Given the description of an element on the screen output the (x, y) to click on. 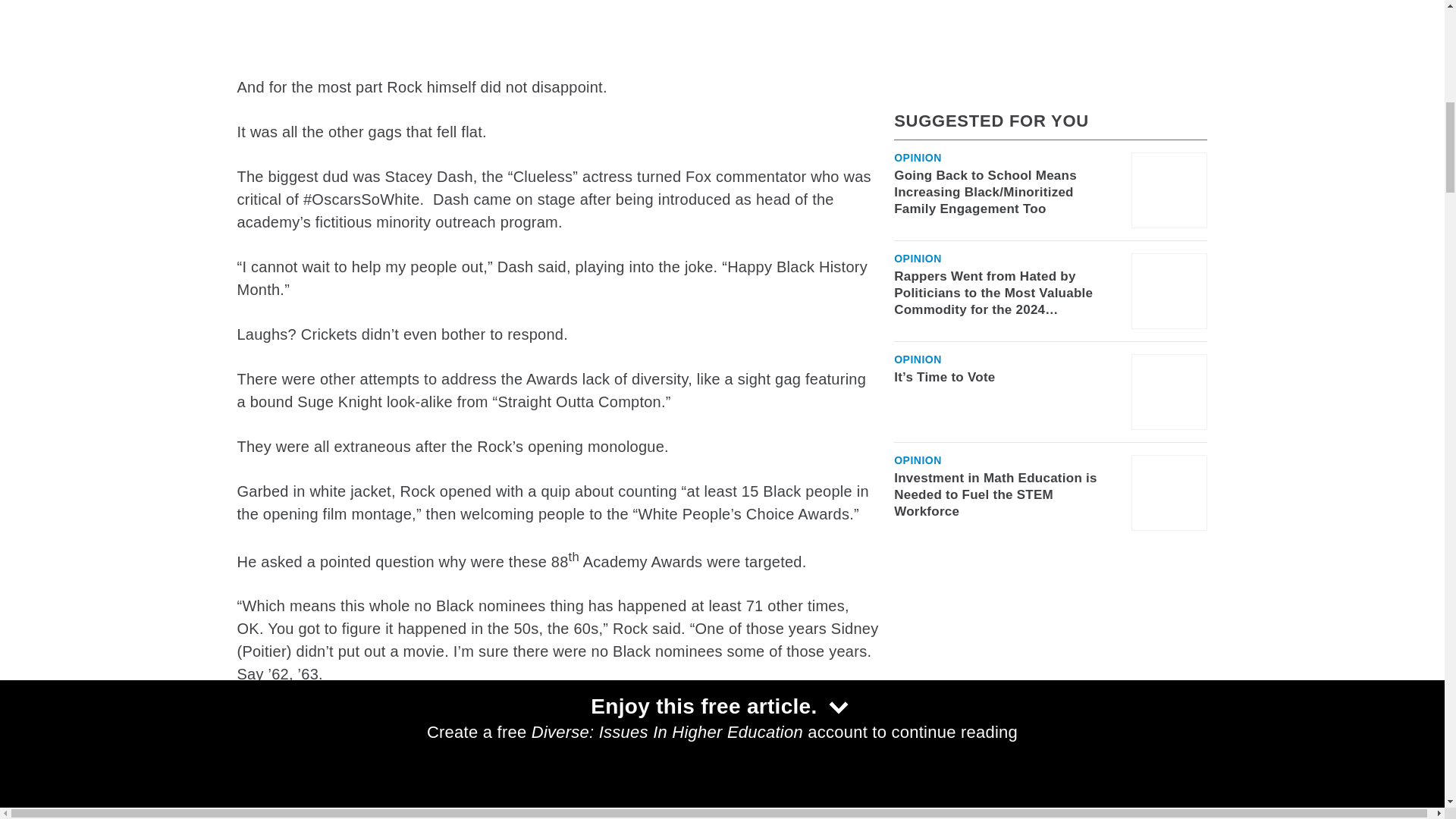
Opinion (917, 194)
Opinion (917, 295)
Opinion (917, 93)
